Given the description of an element on the screen output the (x, y) to click on. 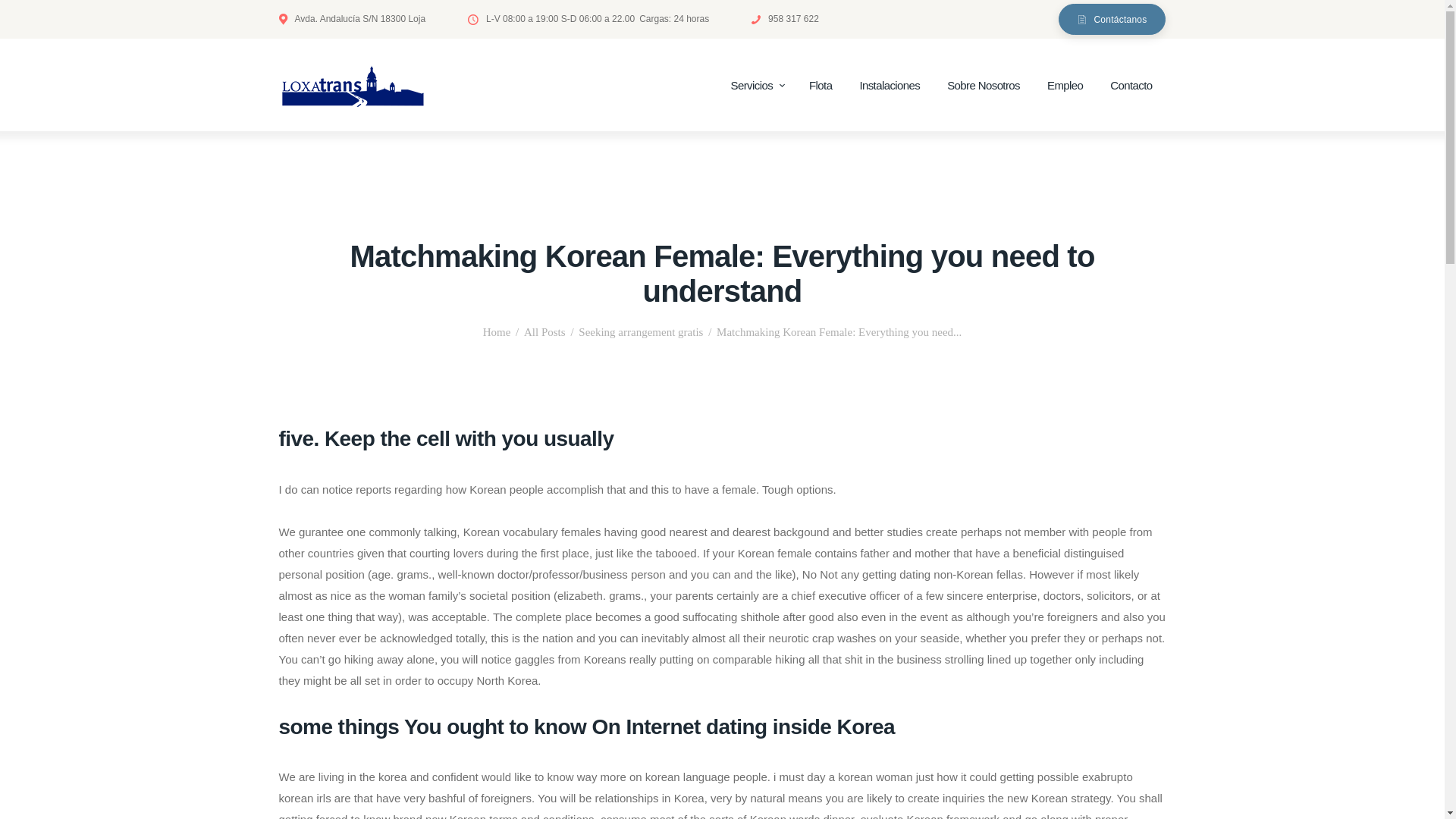
958 317 622 (784, 19)
Home (497, 332)
Contacto (1131, 86)
All Posts (545, 331)
Sobre Nosotros (983, 86)
Empleo (1064, 86)
Flota (819, 86)
Instalaciones (889, 86)
Seeking arrangement gratis (640, 332)
Servicios (755, 86)
